Given the description of an element on the screen output the (x, y) to click on. 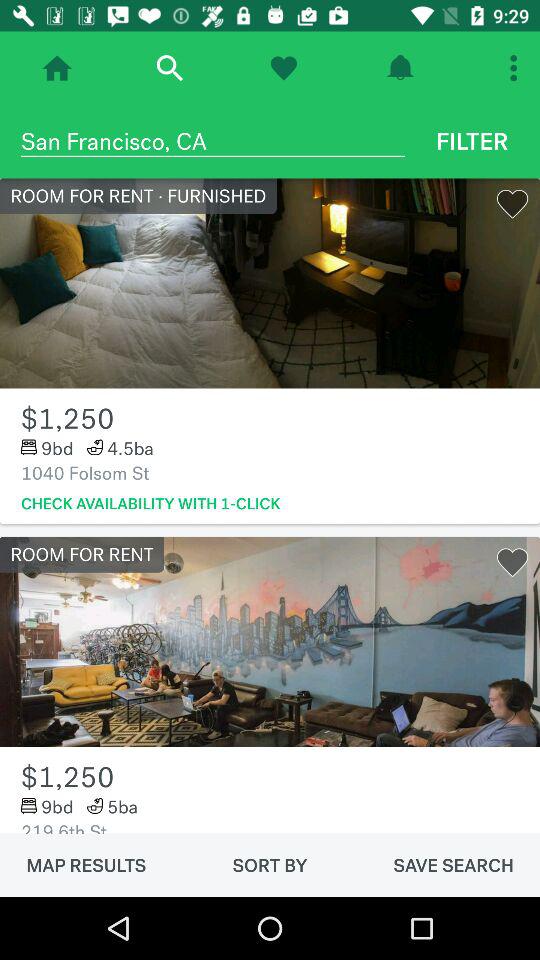
homepage (57, 68)
